Given the description of an element on the screen output the (x, y) to click on. 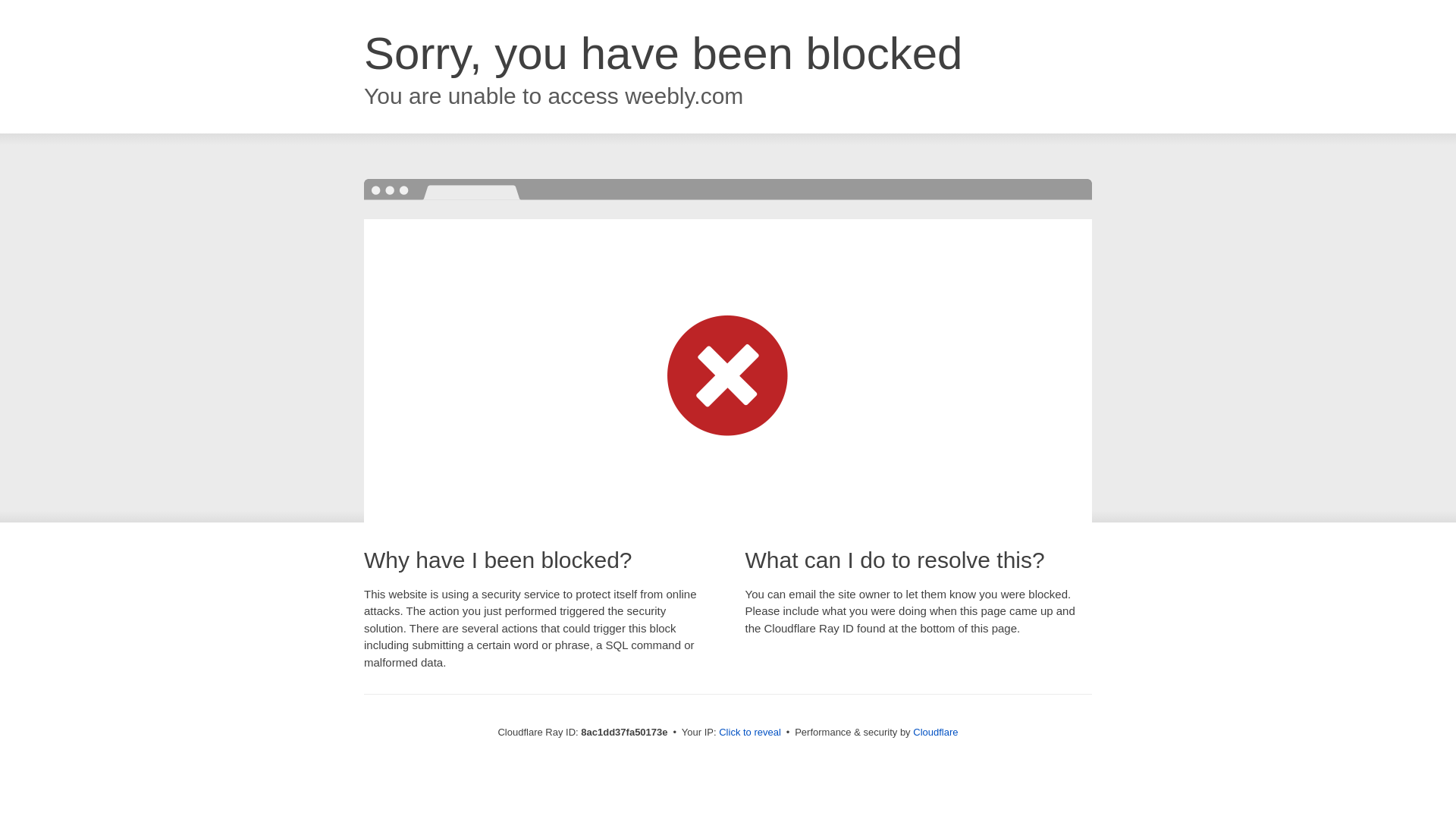
Cloudflare (935, 731)
Click to reveal (749, 732)
